Given the description of an element on the screen output the (x, y) to click on. 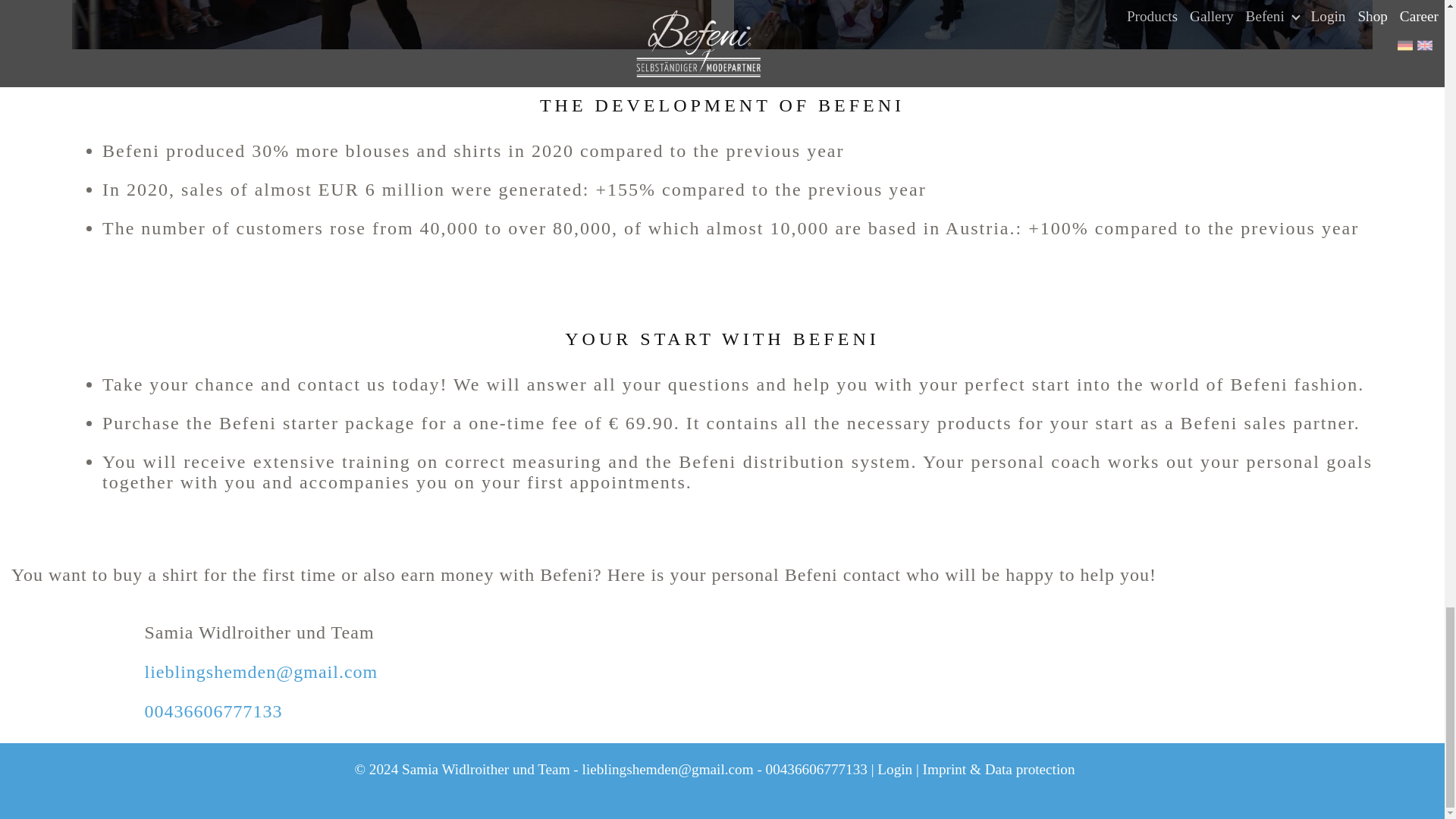
Login (894, 769)
00436606777133 (213, 711)
